Given the description of an element on the screen output the (x, y) to click on. 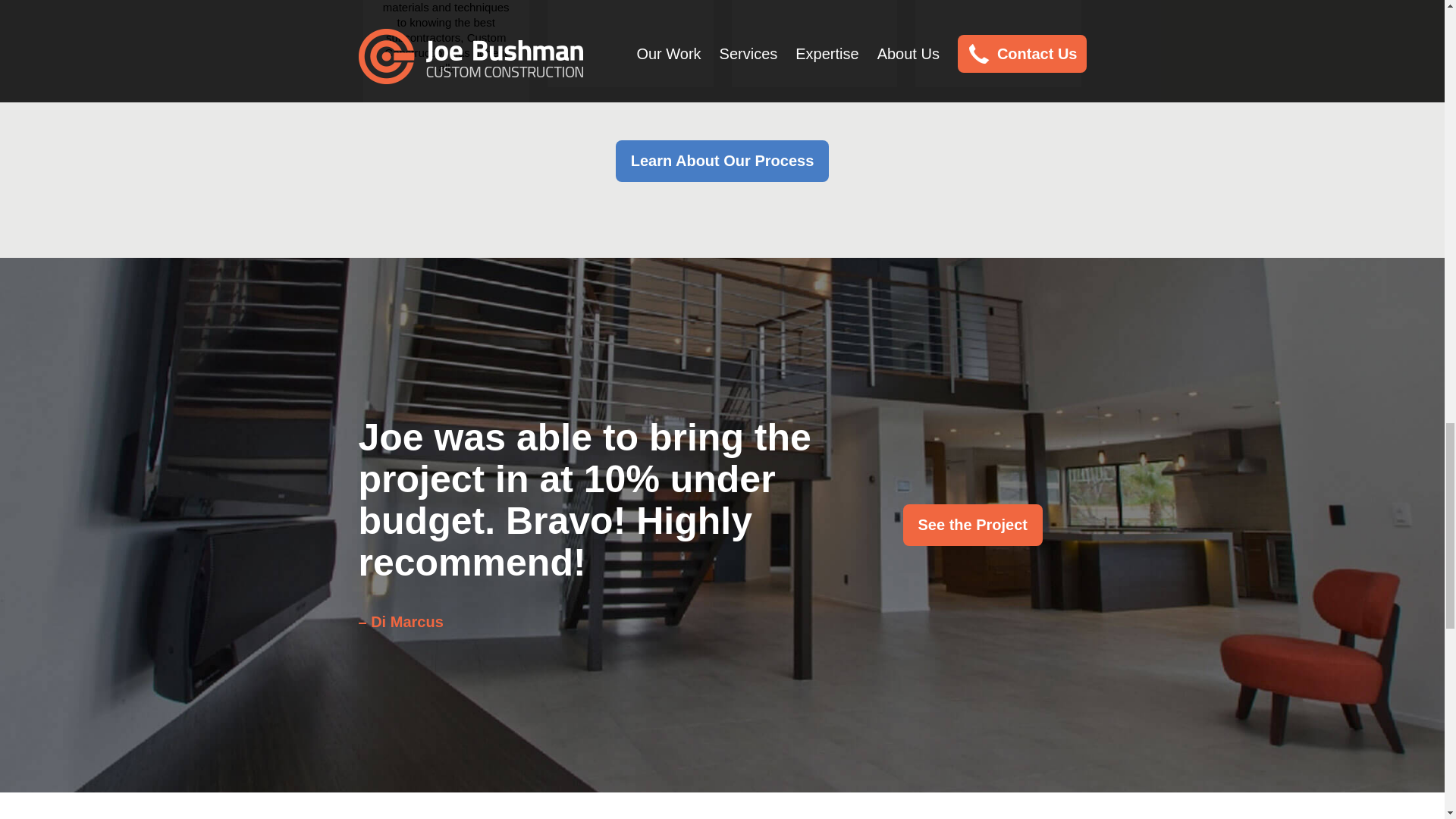
See the Project (972, 525)
Learn About Our Process (722, 160)
